Given the description of an element on the screen output the (x, y) to click on. 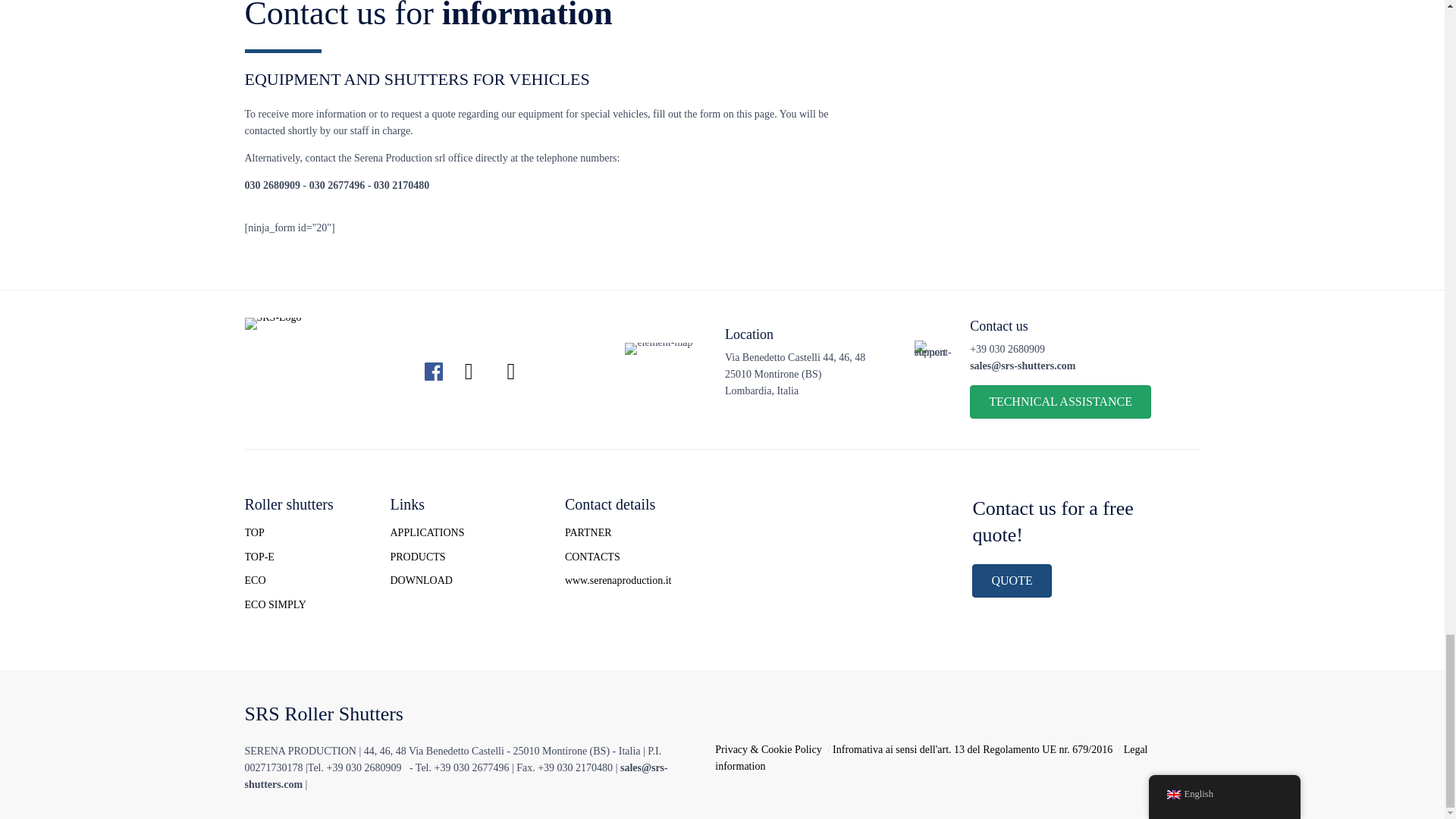
SRS-Logo (274, 317)
element-map (662, 365)
